Given the description of an element on the screen output the (x, y) to click on. 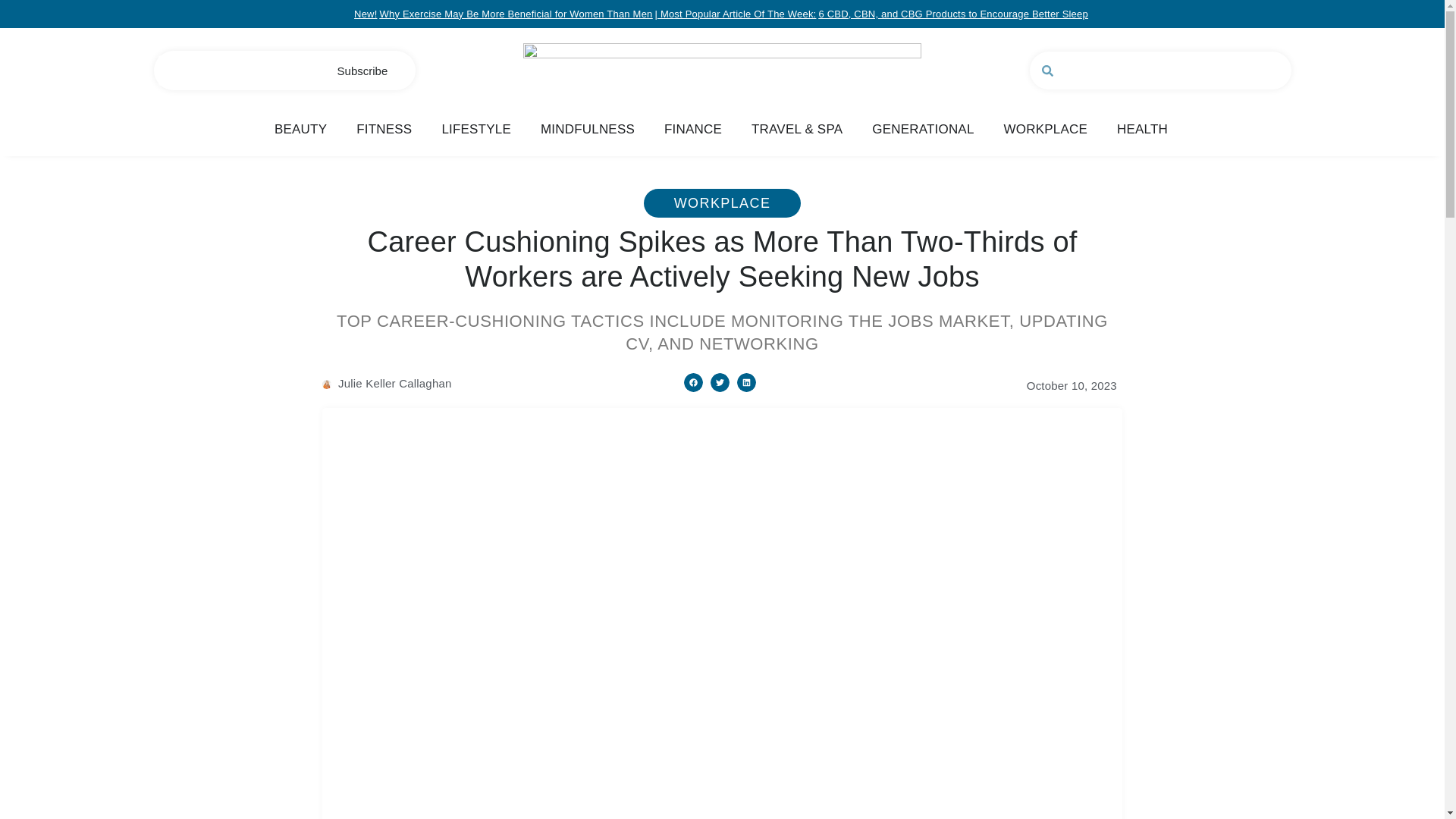
Subscribe (362, 70)
FITNESS (384, 129)
Why Exercise May Be More Beneficial for Women Than Men (515, 13)
MINDFULNESS (587, 129)
BEAUTY (300, 129)
LIFESTYLE (476, 129)
6 CBD, CBN, and CBG Products to Encourage Better Sleep (952, 13)
